Given the description of an element on the screen output the (x, y) to click on. 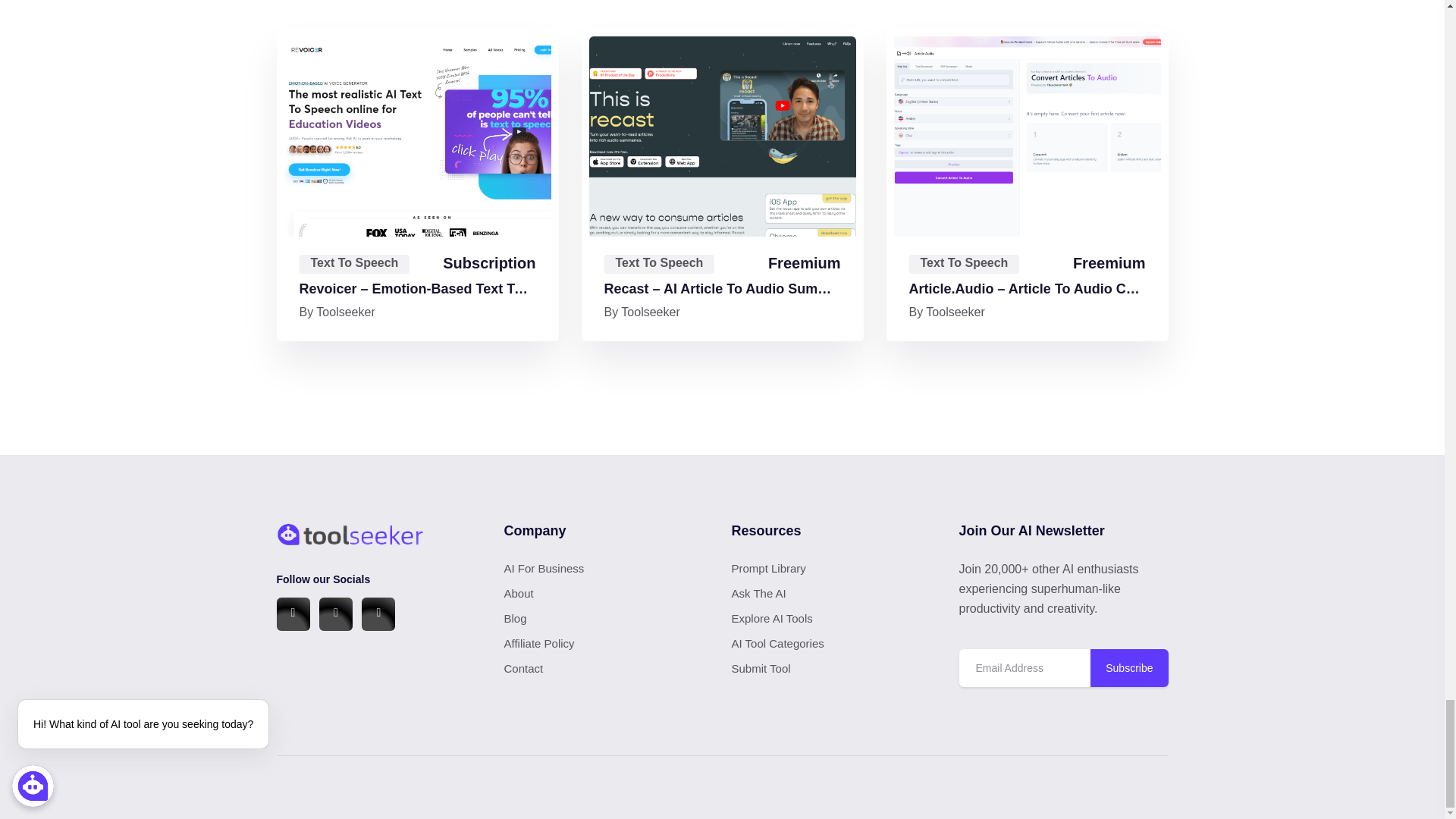
Text To Speech (353, 263)
